Given the description of an element on the screen output the (x, y) to click on. 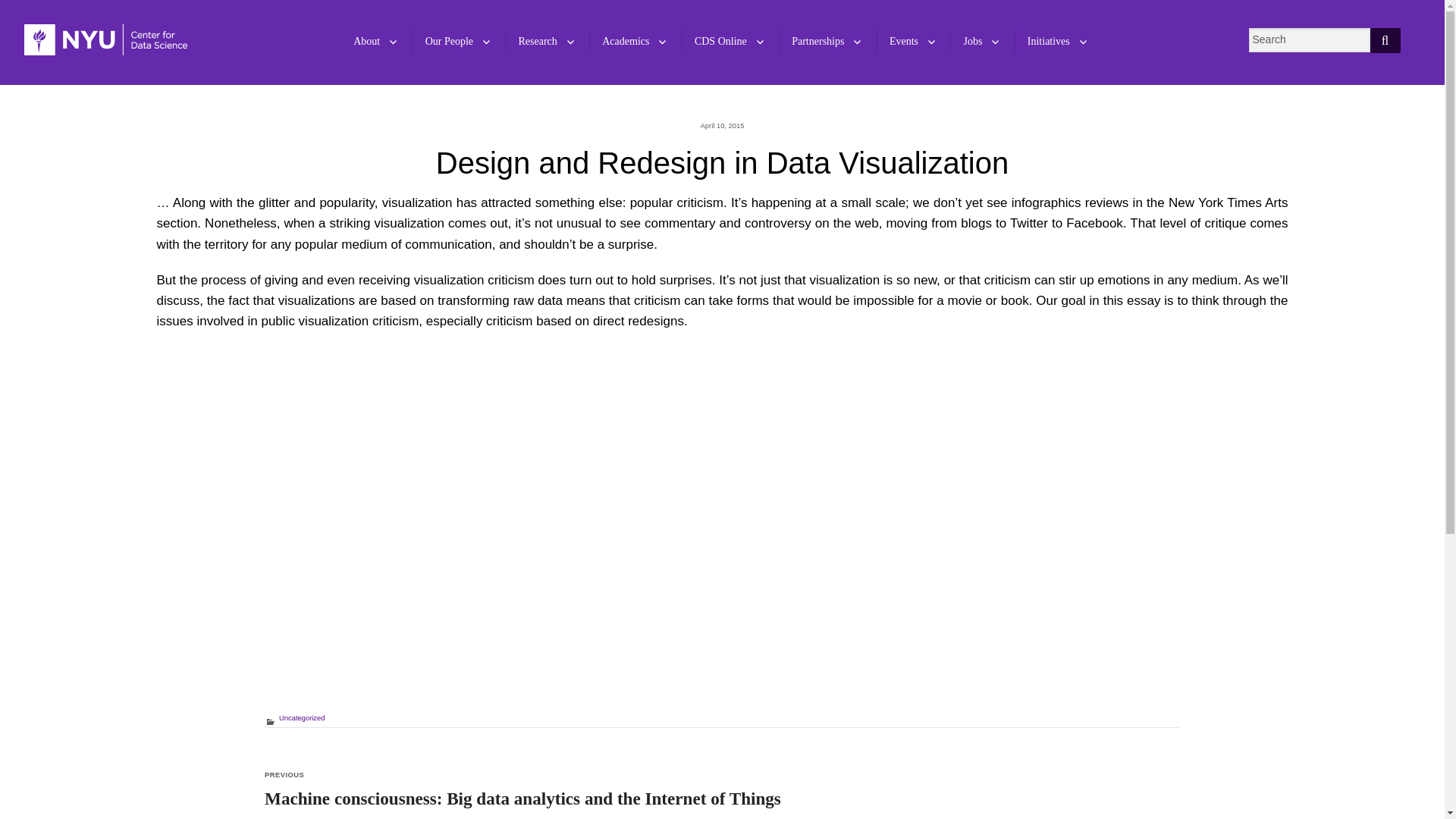
Our People (457, 42)
Research (545, 42)
About (374, 42)
